Given the description of an element on the screen output the (x, y) to click on. 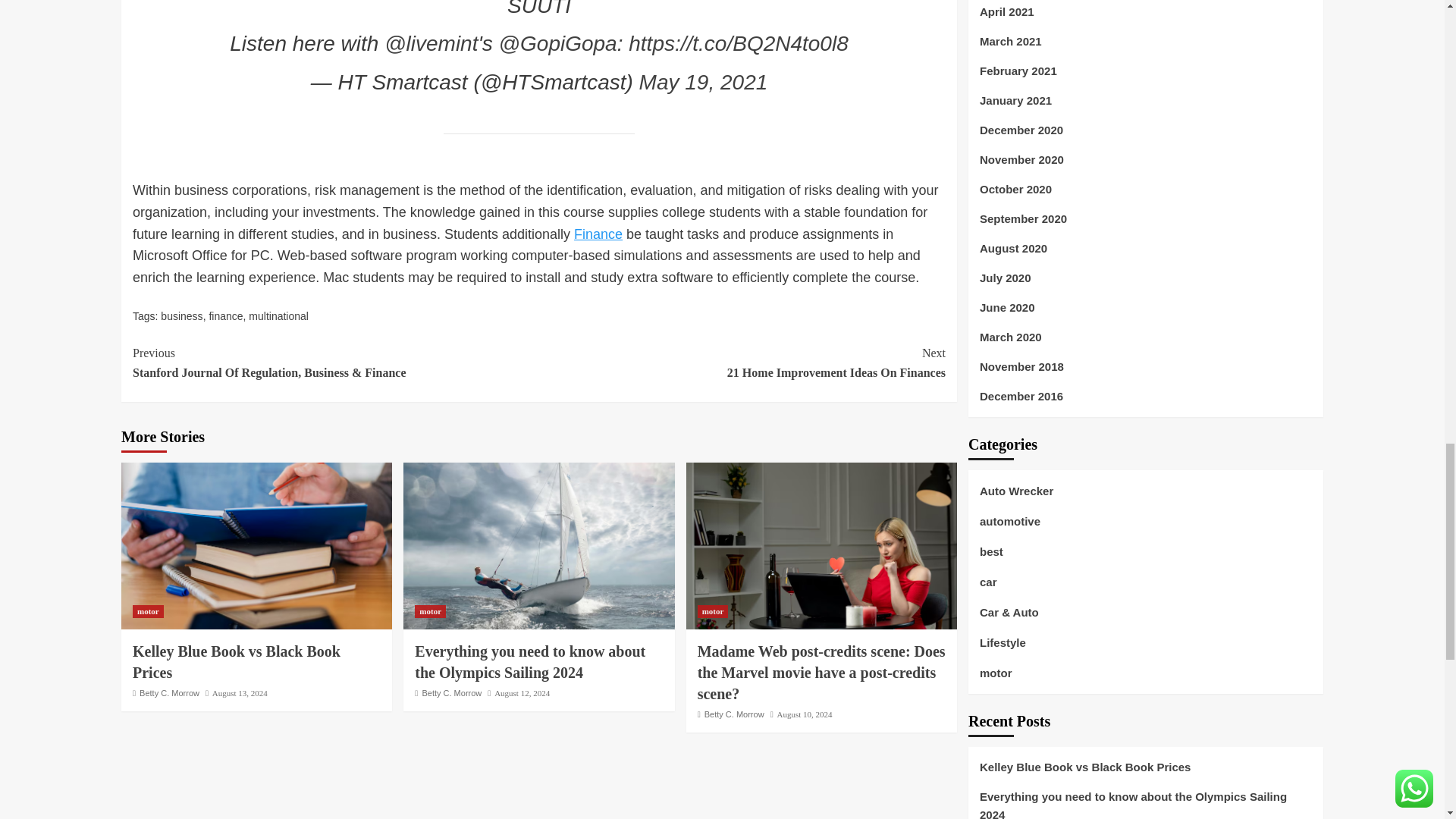
business (181, 316)
Finance (598, 233)
multinational (278, 316)
Everything you need to know about the Olympics Sailing 2024 (538, 545)
Kelley Blue Book vs Black Book Prices (255, 545)
May 19, 2021 (703, 82)
finance (225, 316)
